Given the description of an element on the screen output the (x, y) to click on. 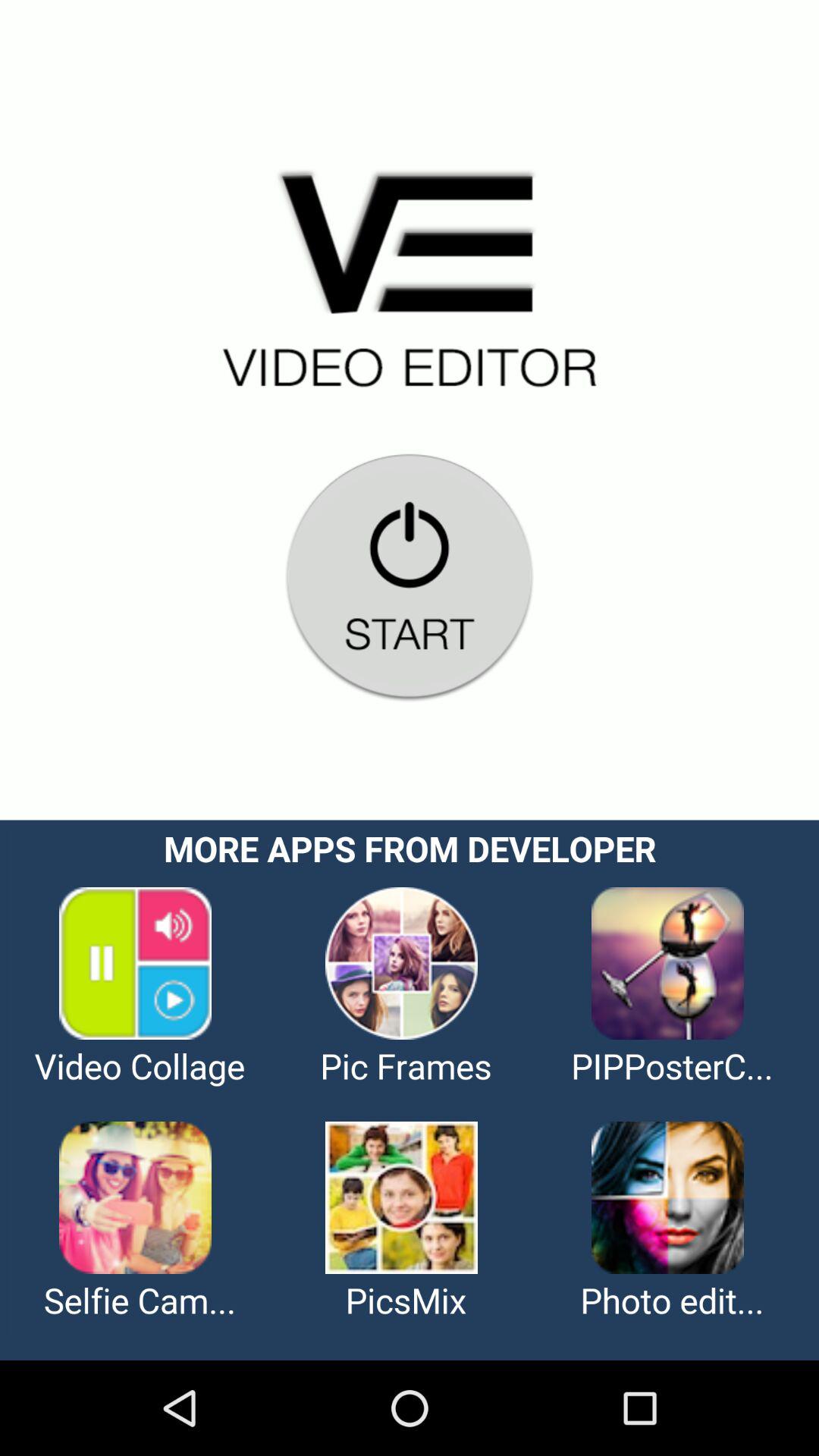
view other apps (409, 1090)
